Given the description of an element on the screen output the (x, y) to click on. 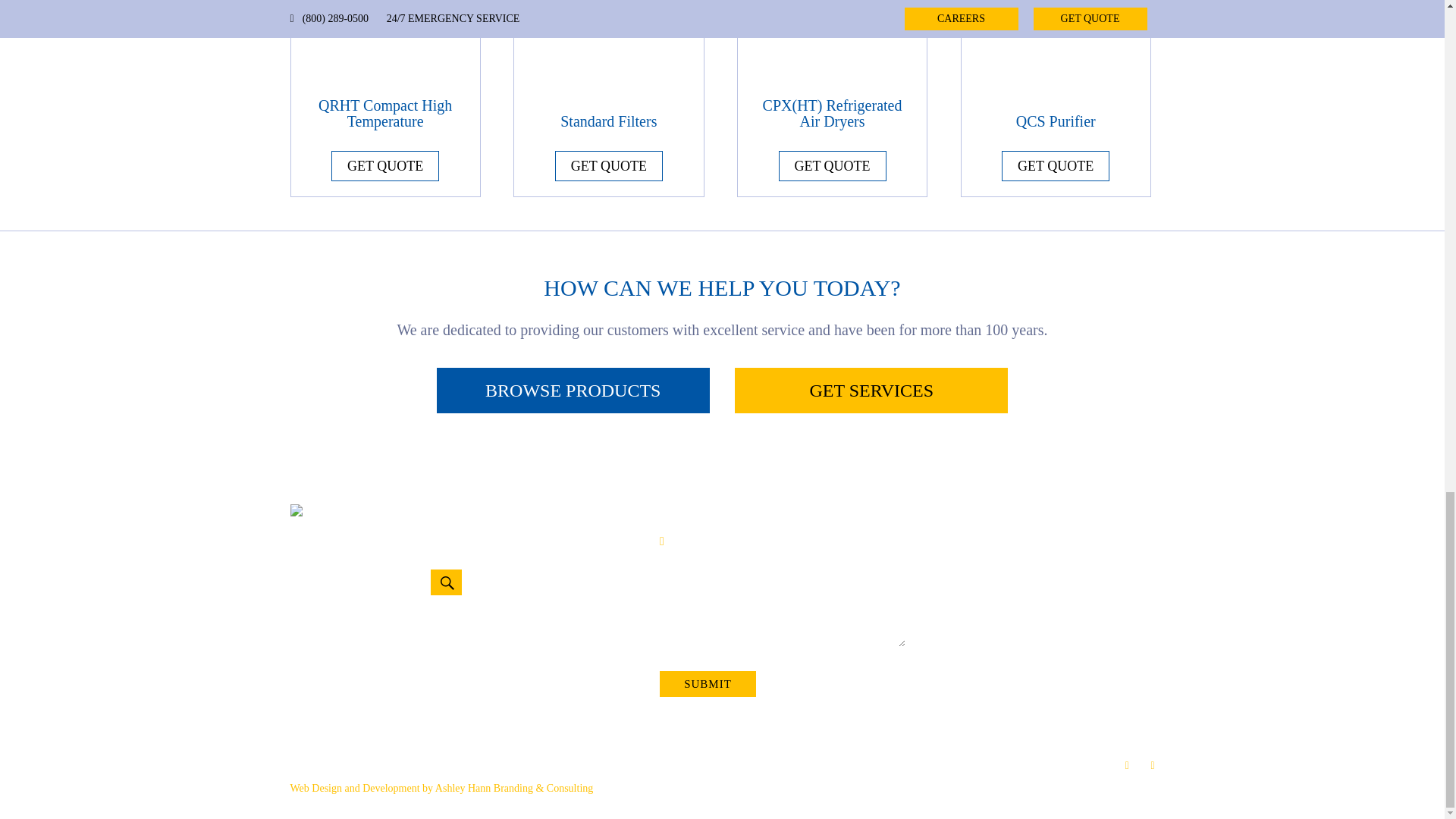
GET QUOTE (608, 165)
GET QUOTE (385, 165)
QRHT Compact High Temperature (384, 68)
SUBMIT (707, 683)
Standard Filters (608, 68)
